Given the description of an element on the screen output the (x, y) to click on. 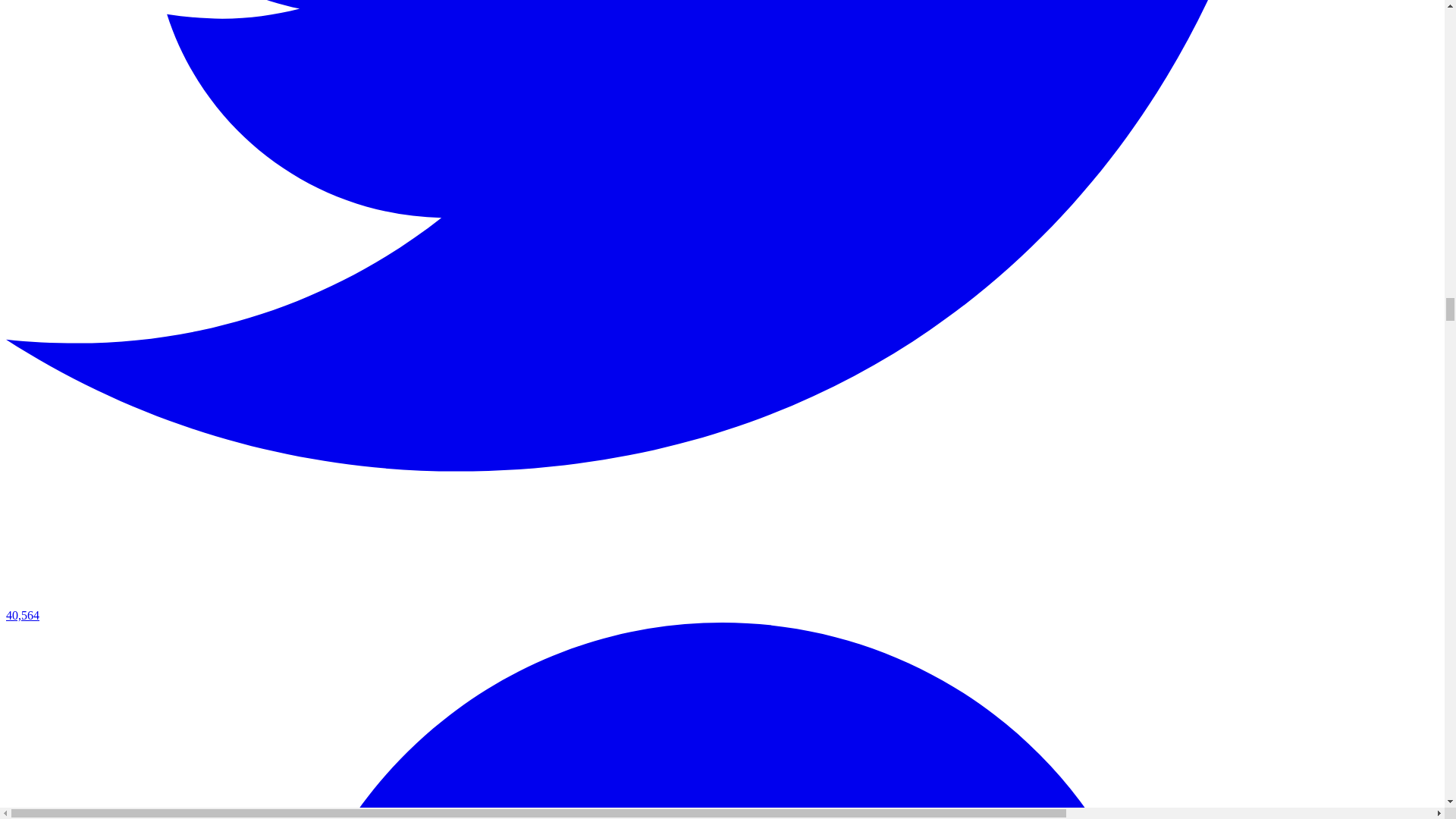
40,564 Tweets (721, 608)
